Given the description of an element on the screen output the (x, y) to click on. 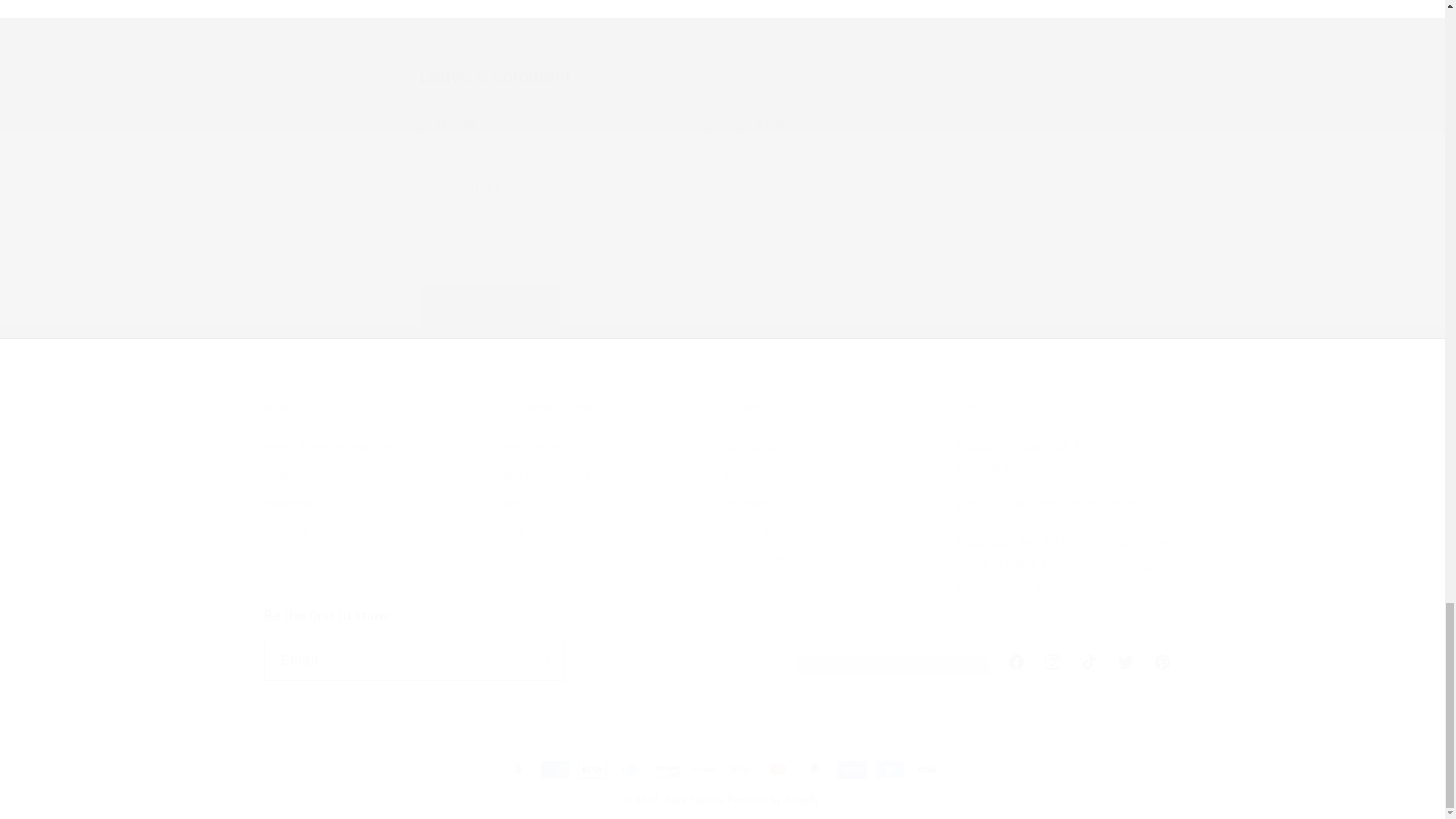
Post comment (489, 305)
